Given the description of an element on the screen output the (x, y) to click on. 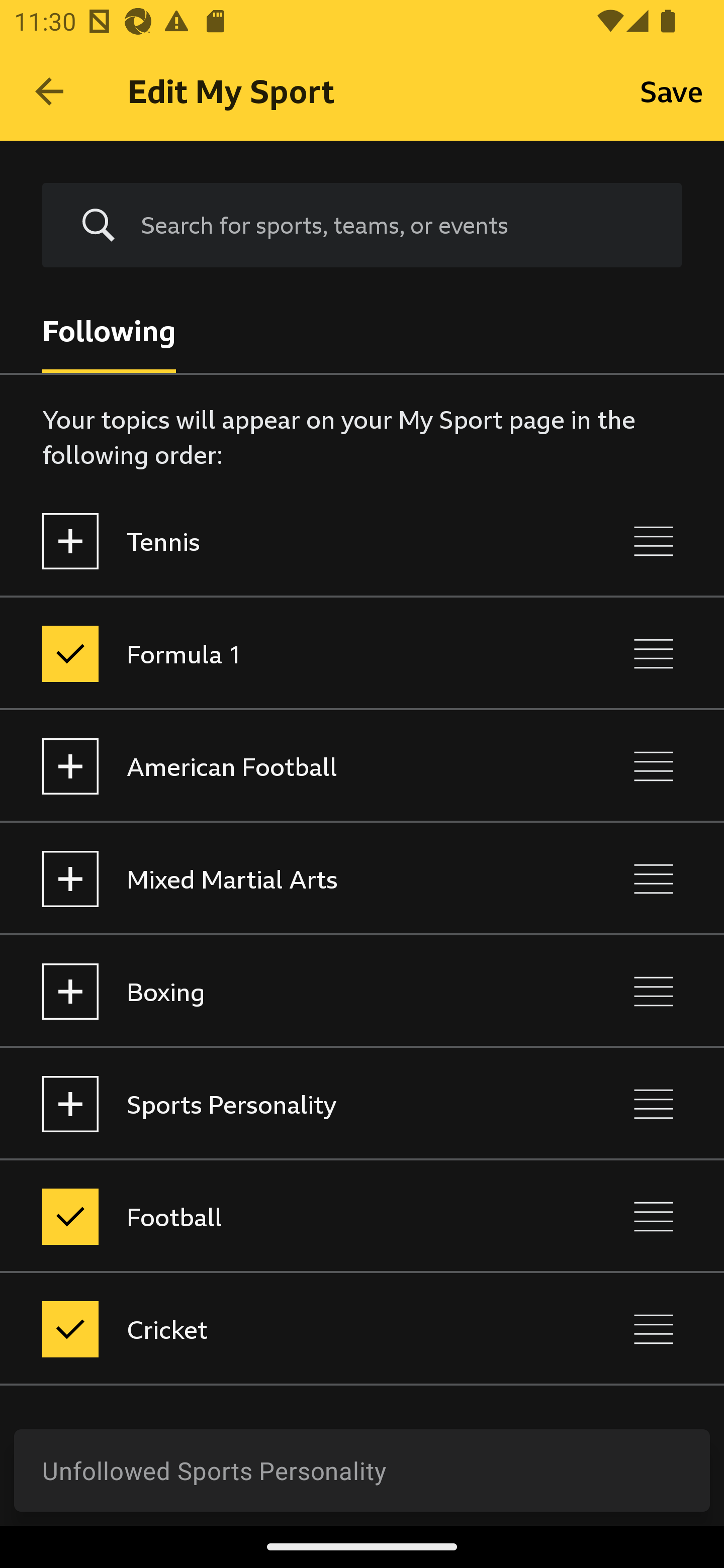
Navigate up (49, 91)
Save (671, 90)
Search for sports, teams, or events (361, 225)
Search for sports, teams, or events (396, 224)
Tennis (277, 540)
Reorder Tennis (653, 540)
Formula 1 (277, 653)
Reorder Formula 1 (653, 653)
American Football (277, 766)
Reorder American Football (653, 766)
Mixed Martial Arts (277, 878)
Reorder Mixed Martial Arts (653, 878)
Boxing (277, 990)
Reorder Boxing (653, 990)
Sports Personality (277, 1103)
Reorder Sports Personality (653, 1103)
Football (277, 1216)
Reorder Football (653, 1216)
Cricket (277, 1329)
Reorder Cricket (653, 1329)
